Given the description of an element on the screen output the (x, y) to click on. 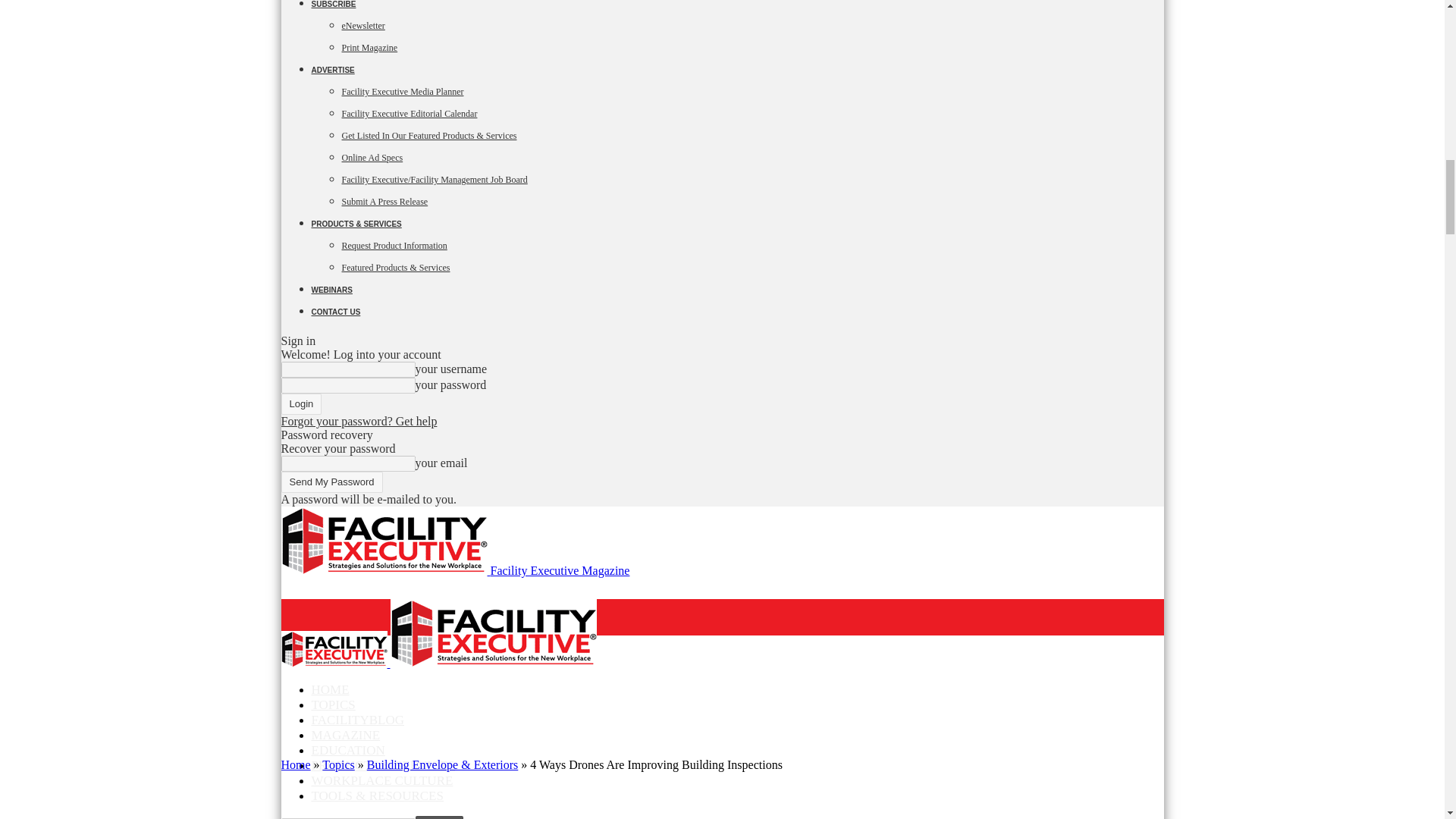
Strategies and Solutions for the New Workplace (492, 632)
Send My Password (331, 482)
Login (301, 403)
Search (438, 817)
Strategies and Solutions for the New Workplace (334, 648)
Strategies and Solutions for the New Workplace (383, 540)
